Given the description of an element on the screen output the (x, y) to click on. 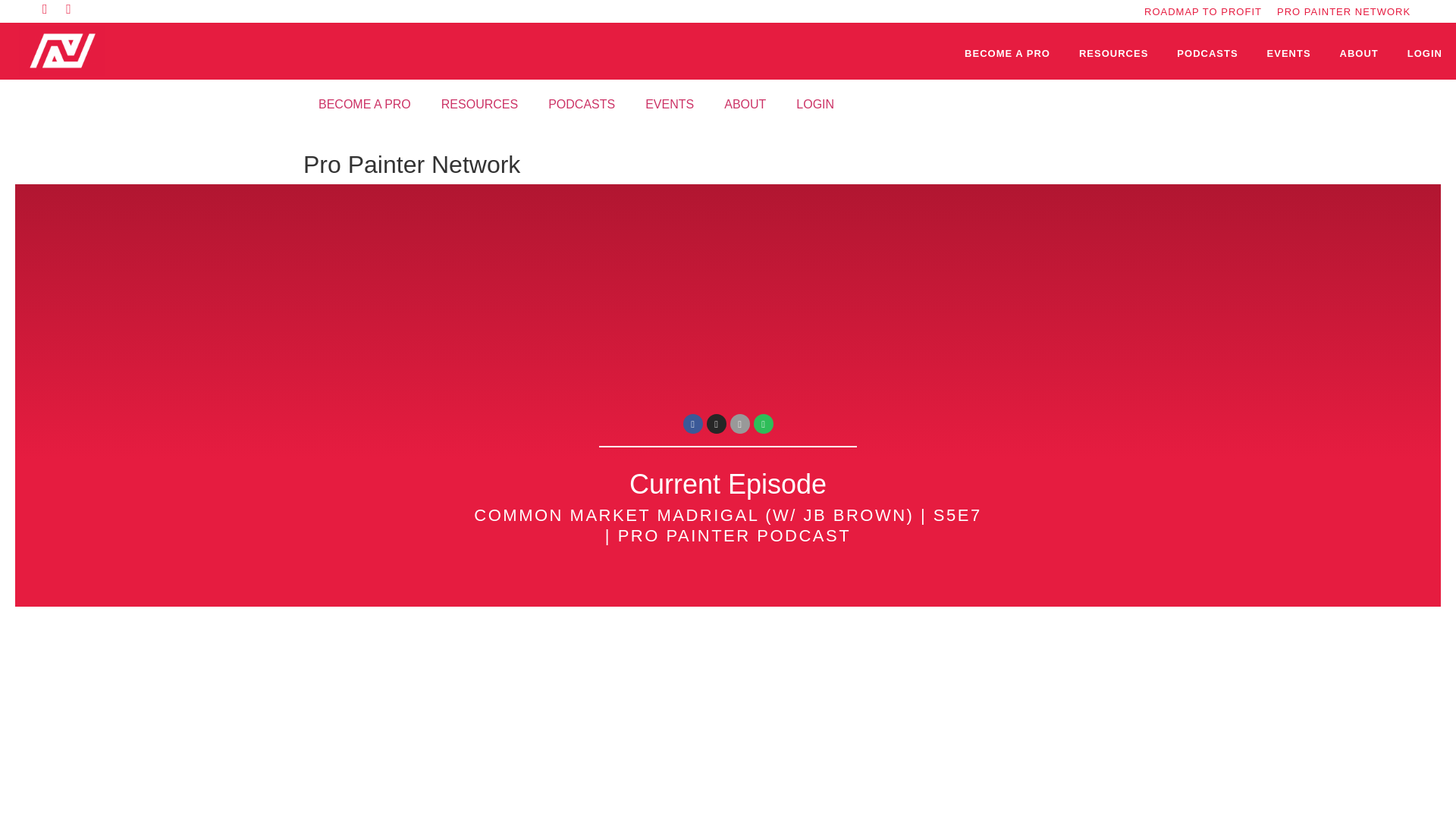
BECOME A PRO (364, 104)
RESOURCES (1113, 53)
PODCASTS (1206, 53)
ROADMAP TO PROFIT (1203, 11)
EVENTS (1289, 53)
PODCASTS (581, 104)
PRO PAINTER NETWORK (1343, 11)
ABOUT (1359, 53)
RESOURCES (479, 104)
LOGIN (1424, 53)
BECOME A PRO (1007, 53)
